Given the description of an element on the screen output the (x, y) to click on. 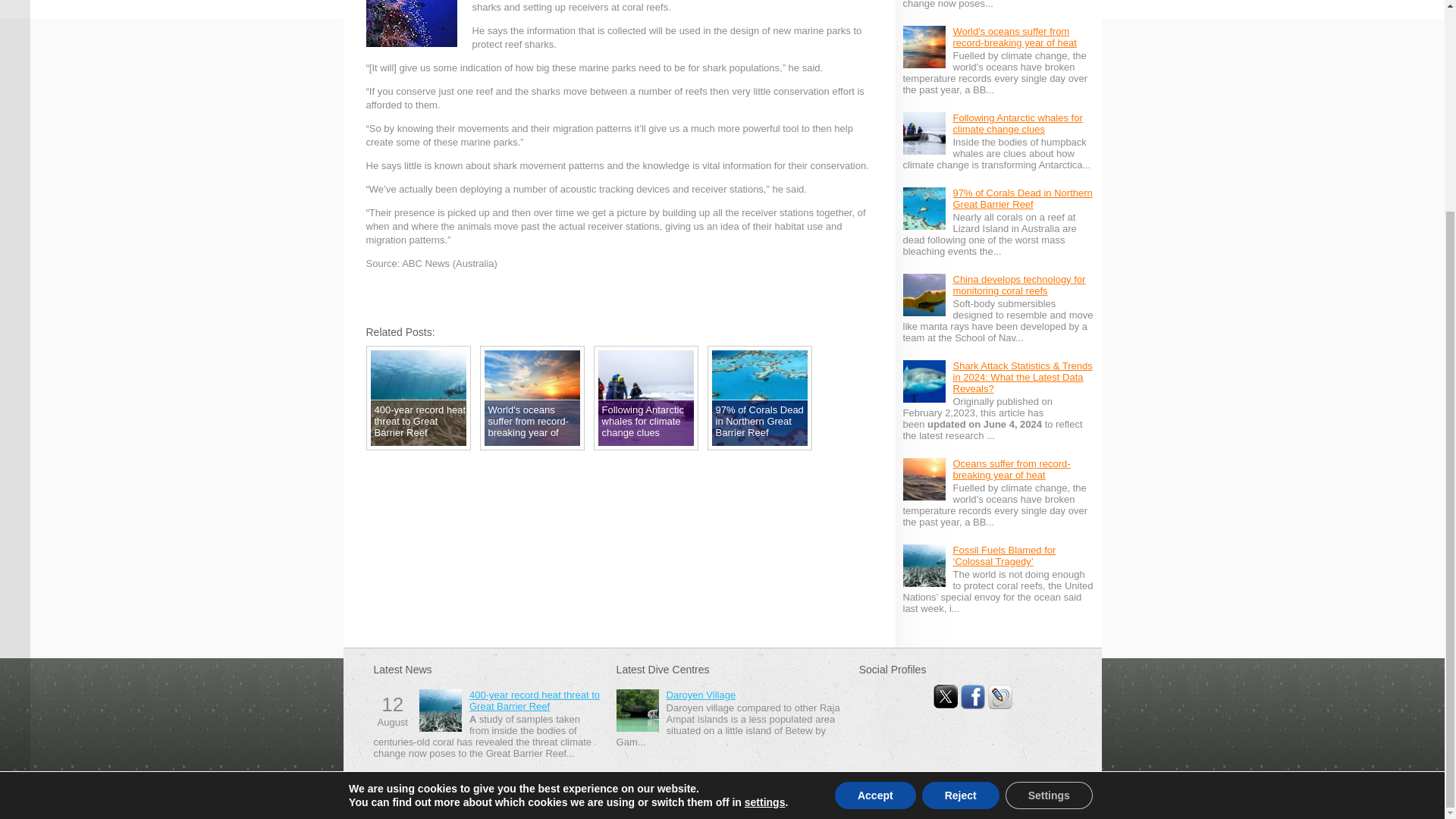
Oceans suffer from record-breaking year of heat (1011, 468)
World's oceans suffer from record-breaking year of heat (1013, 36)
Following Antarctic whales for climate change clues (1016, 123)
China develops technology for monitoring coral reefs (1018, 284)
